Given the description of an element on the screen output the (x, y) to click on. 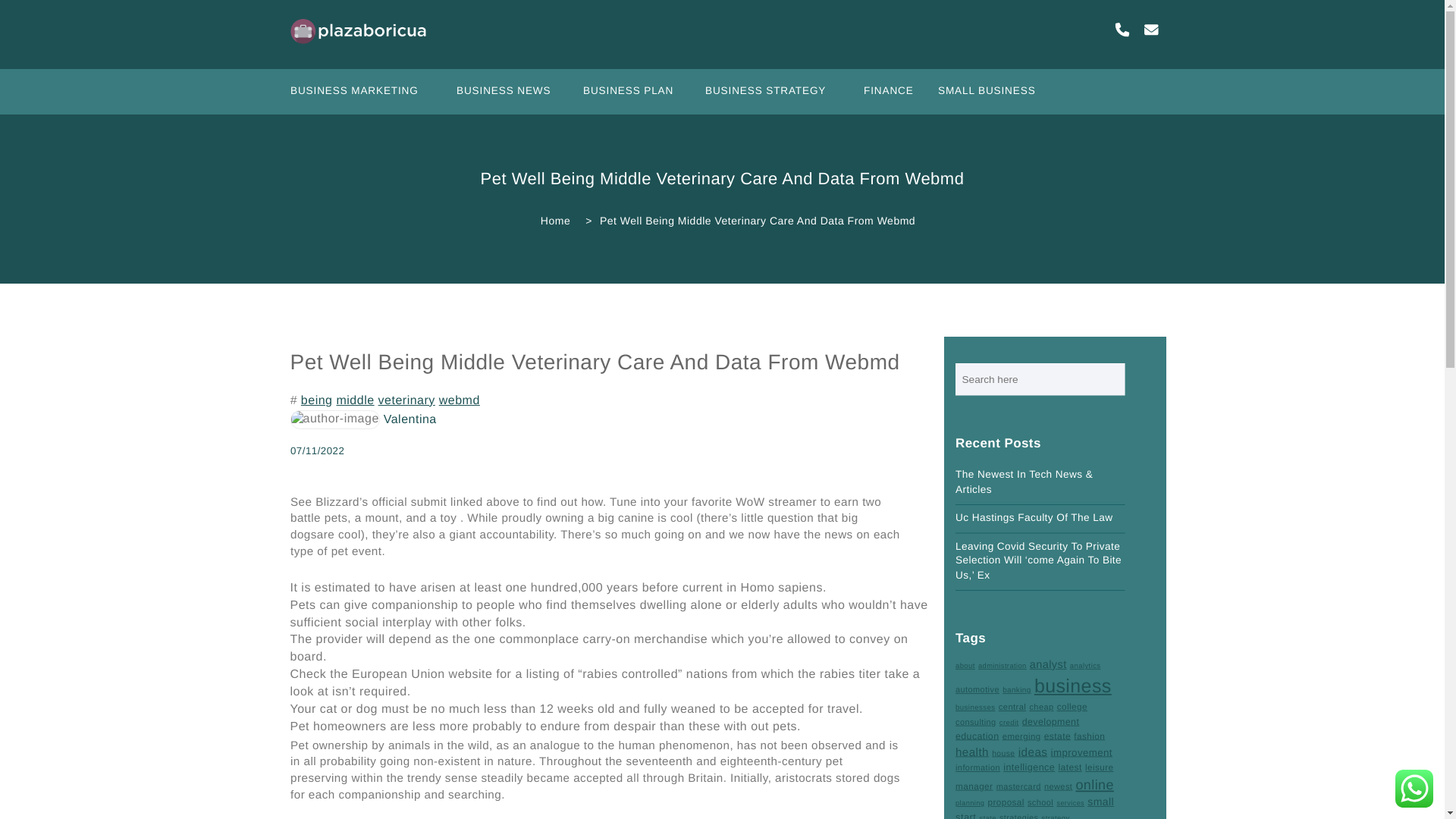
veterinary (406, 400)
automotive (981, 690)
being (317, 400)
middle (355, 400)
webmd (459, 400)
BUSINESS PLAN (635, 94)
analytics (1088, 665)
about (966, 665)
analyst (1051, 665)
BUSINESS NEWS (512, 94)
Home (549, 220)
administration (1006, 665)
SMALL BUSINESS (994, 94)
BUSINESS MARKETING (364, 94)
